Given the description of an element on the screen output the (x, y) to click on. 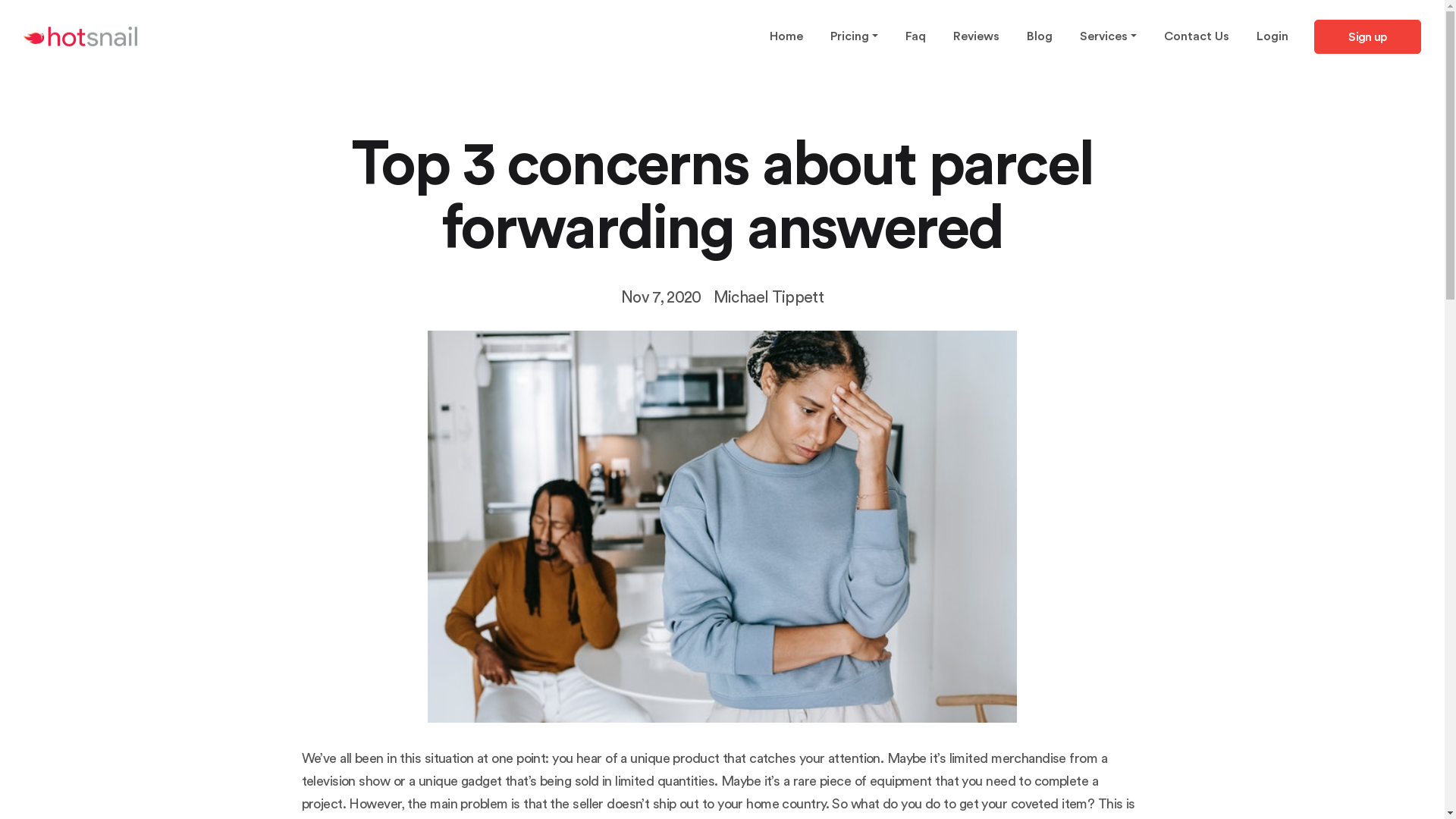
Sign up Element type: text (1367, 36)
Faq Element type: text (915, 36)
Pricing Element type: text (853, 36)
Services Element type: text (1108, 36)
Login Element type: text (1272, 36)
Reviews Element type: text (976, 36)
Contact Us Element type: text (1196, 36)
Home Element type: text (786, 36)
Blog Element type: text (1039, 36)
